Given the description of an element on the screen output the (x, y) to click on. 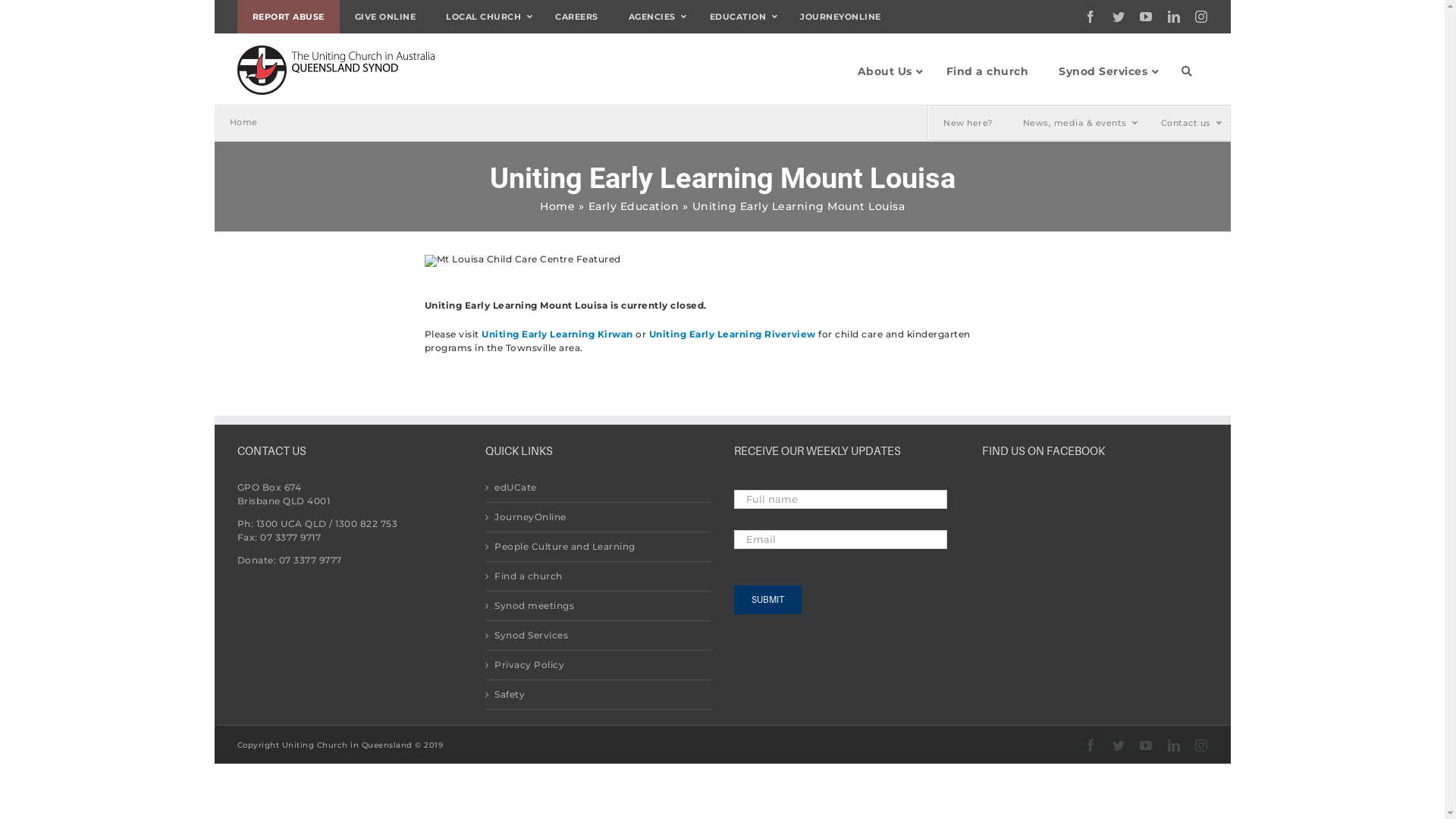
LinkedIn Element type: text (1173, 745)
Instagram Element type: text (1201, 745)
JOURNEYONLINE Element type: text (840, 16)
Twitter Element type: text (1117, 745)
JourneyOnline Element type: text (598, 517)
LinkedIn Element type: text (1173, 16)
Twitter Element type: text (1117, 16)
Uniting Early Learning Kirwan Element type: text (557, 333)
Submit Element type: text (767, 599)
edUCate Element type: text (598, 487)
Privacy Policy Element type: text (598, 664)
Facebook Element type: text (1090, 16)
Early Education Element type: text (633, 206)
EDUCATION Element type: text (739, 16)
Synod Services Element type: text (598, 635)
YouTube Element type: text (1145, 745)
Uniting Early Learning Riverview Element type: text (732, 333)
Safety Element type: text (598, 694)
Synod meetings Element type: text (598, 605)
Synod Services Element type: text (1104, 71)
GIVE ONLINE Element type: text (385, 16)
CAREERS Element type: text (576, 16)
New here? Element type: text (967, 122)
Instagram Element type: text (1201, 16)
AGENCIES Element type: text (652, 16)
About Us Element type: text (885, 71)
Facebook Element type: text (1090, 745)
Contact us Element type: text (1187, 122)
News, media & events Element type: text (1076, 122)
REPORT ABUSE Element type: text (287, 16)
Find a church Element type: text (987, 71)
Home Element type: text (242, 121)
Find a church Element type: text (598, 576)
YouTube Element type: text (1145, 16)
People Culture and Learning Element type: text (598, 546)
Home Element type: text (556, 206)
